Given the description of an element on the screen output the (x, y) to click on. 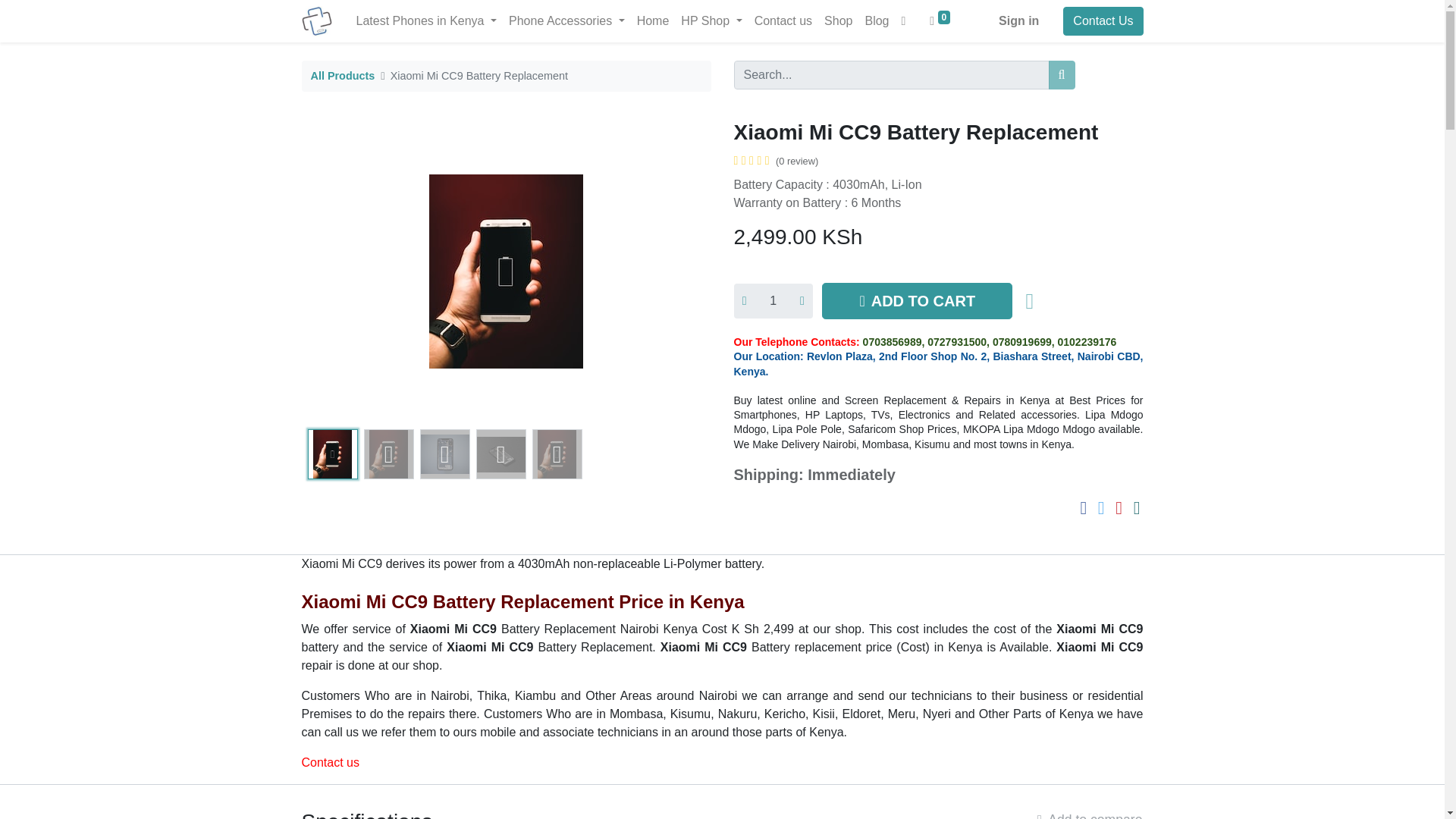
Phone Accessories (566, 20)
FKAY Smartphones (316, 20)
HP Shop (711, 20)
Home (652, 20)
Search (1061, 74)
1 (773, 300)
Latest Phones in Kenya (426, 20)
